Given the description of an element on the screen output the (x, y) to click on. 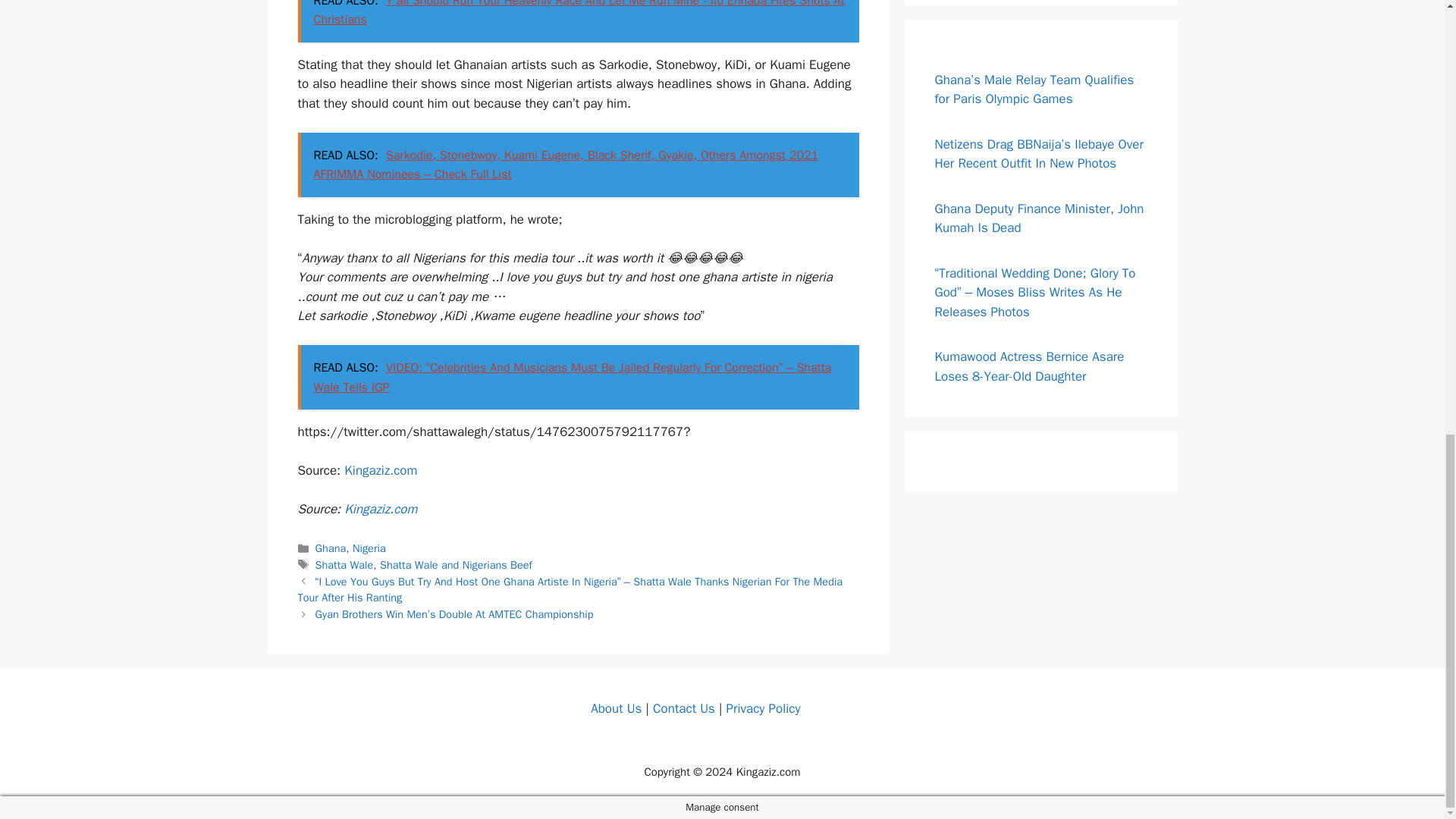
About Us (616, 708)
Privacy Policy (762, 708)
Contact Us (683, 708)
Ghana (330, 548)
Shatta Wale and Nigerians Beef (456, 564)
Ghana Deputy Finance Minister, John Kumah Is Dead (1038, 217)
Nigeria (368, 548)
Kingaziz.com (379, 508)
Kingaziz.com (379, 470)
